Given the description of an element on the screen output the (x, y) to click on. 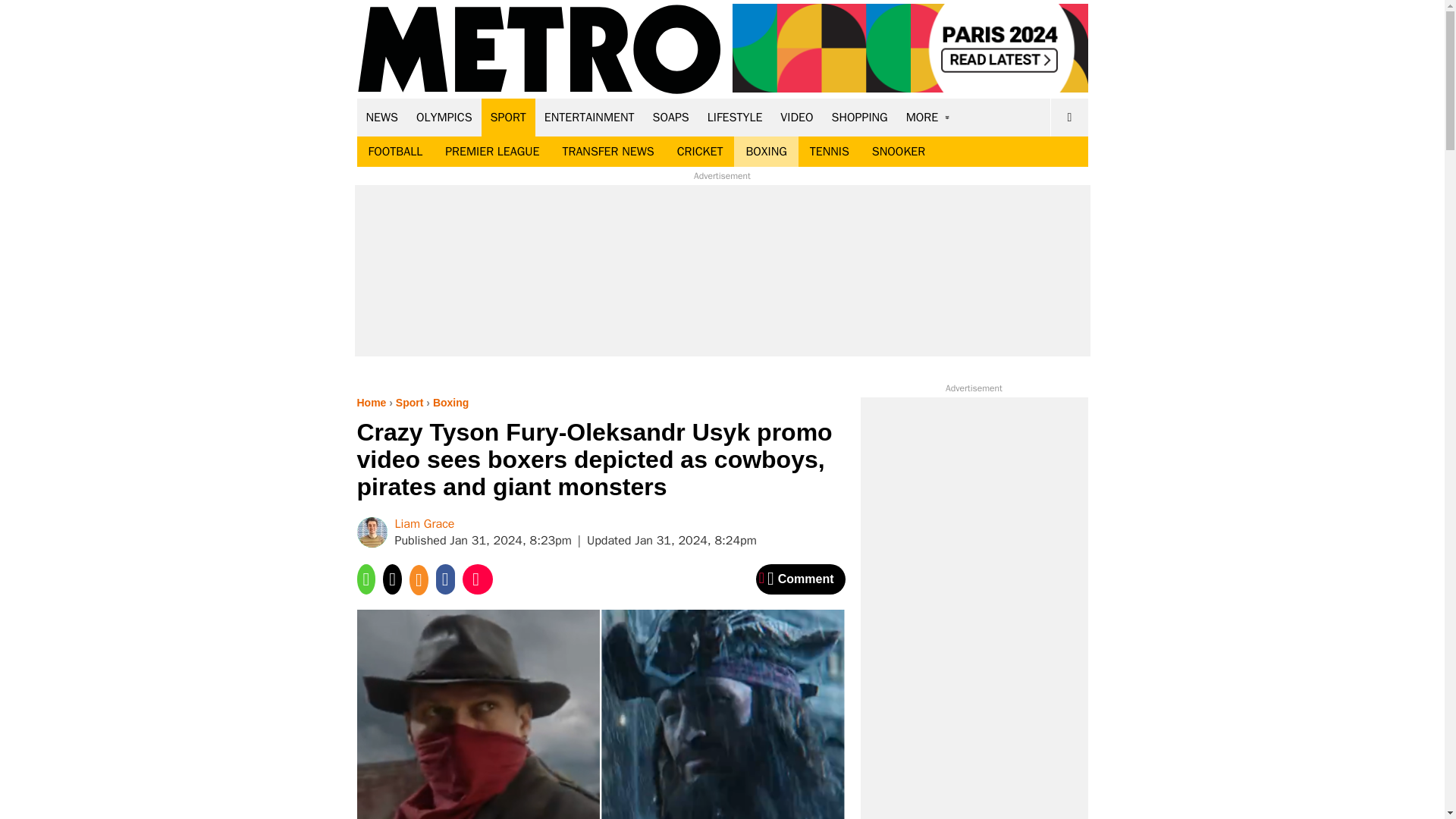
LIFESTYLE (734, 117)
ENTERTAINMENT (589, 117)
Metro (539, 50)
NEWS (381, 117)
FOOTBALL (394, 151)
SOAPS (670, 117)
PREMIER LEAGUE (491, 151)
TENNIS (828, 151)
SNOOKER (898, 151)
SPORT (508, 117)
CRICKET (700, 151)
OLYMPICS (444, 117)
TRANSFER NEWS (607, 151)
BOXING (765, 151)
